Given the description of an element on the screen output the (x, y) to click on. 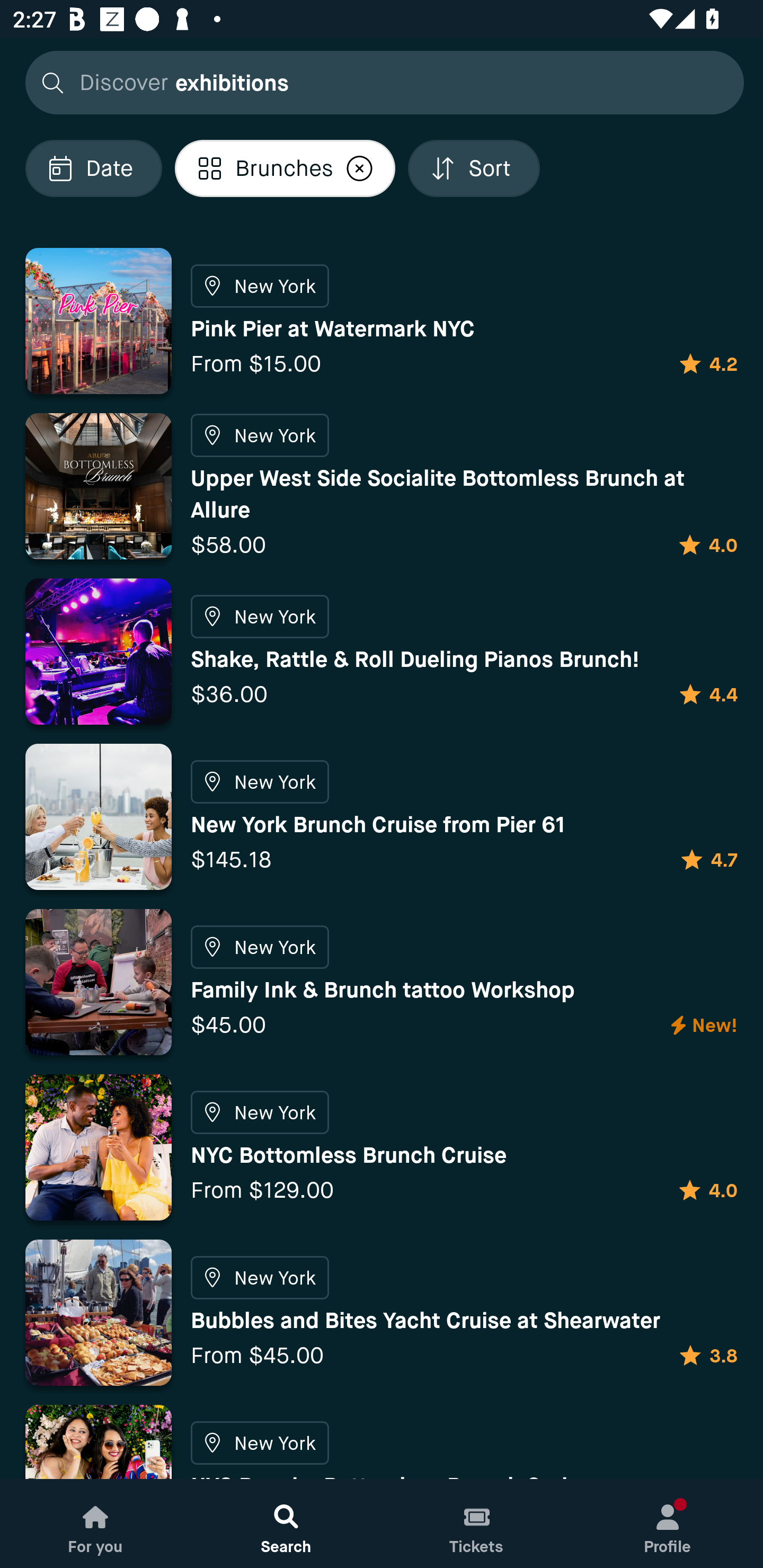
Discover exhibitions (379, 81)
Localized description Date (93, 168)
Localized description (359, 168)
Localized description Sort (474, 168)
For you (95, 1523)
Tickets (476, 1523)
Profile, New notification Profile (667, 1523)
